Given the description of an element on the screen output the (x, y) to click on. 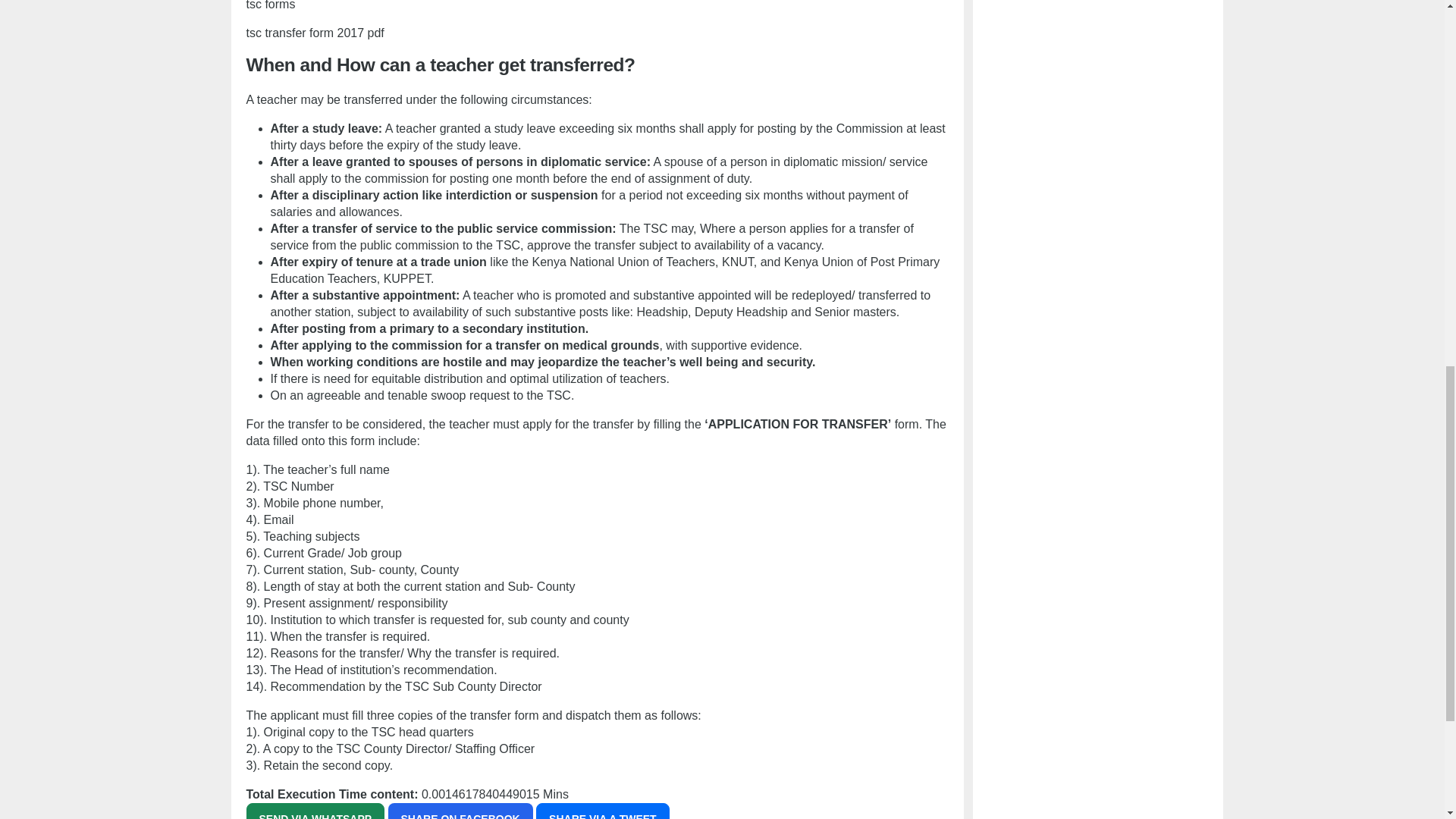
SHARE VIA A TWEET (602, 811)
SHARE ON FACEBOOK (460, 811)
SEND VIA WHATSAPP (315, 811)
